Given the description of an element on the screen output the (x, y) to click on. 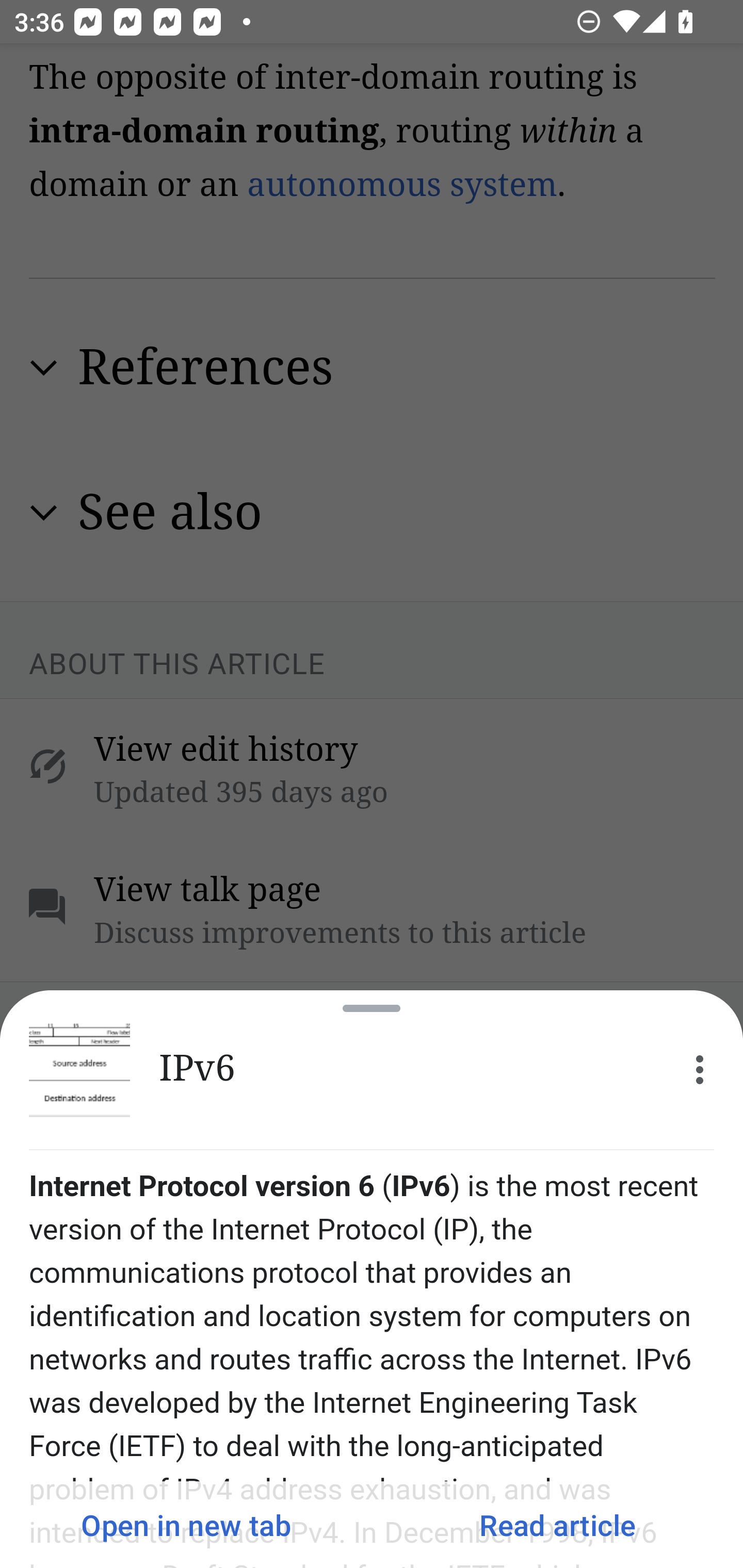
IPv6 More options (371, 1069)
More options (699, 1070)
Open in new tab (185, 1524)
Read article (557, 1524)
